Given the description of an element on the screen output the (x, y) to click on. 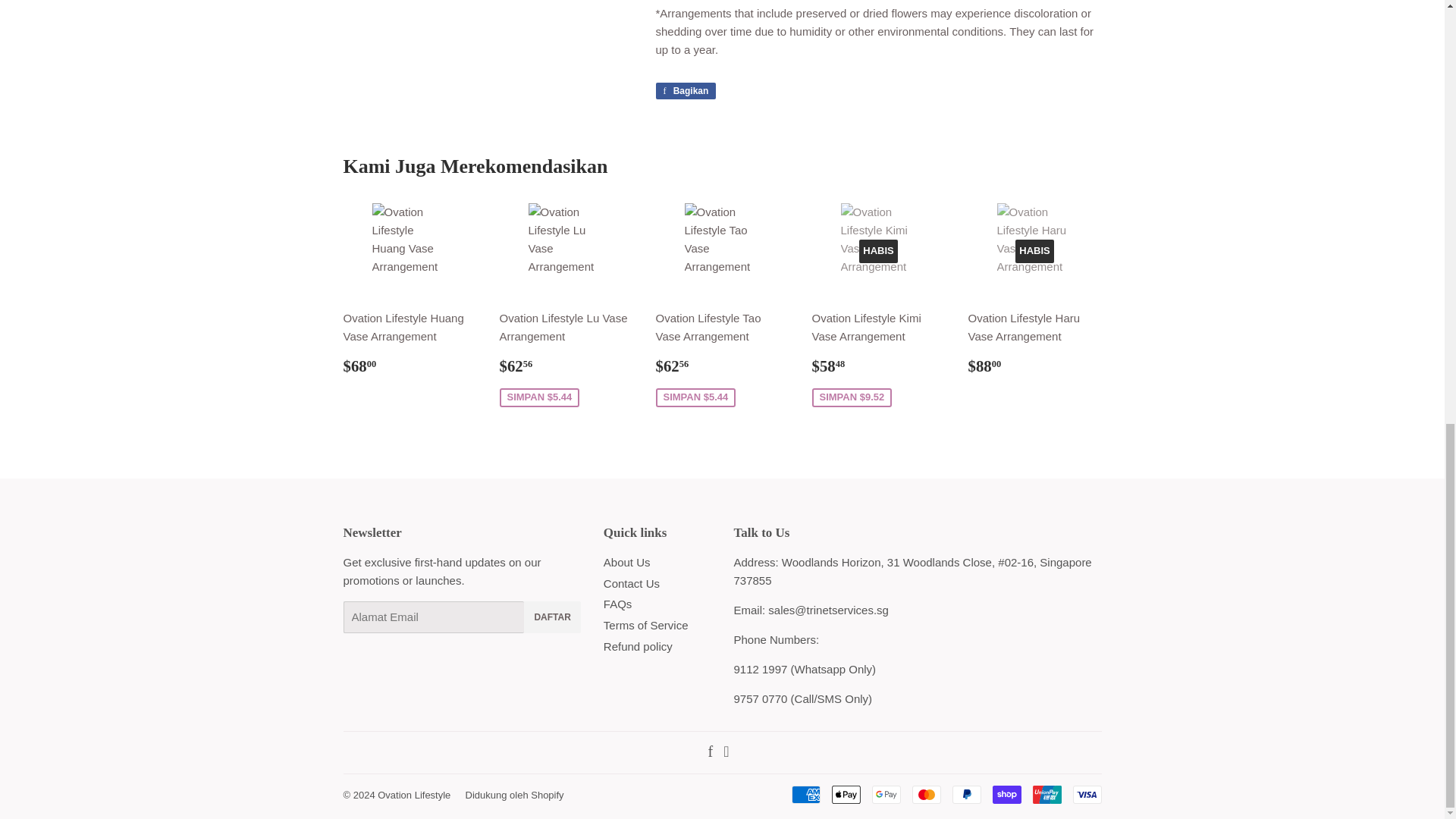
Shop Pay (1005, 794)
Visa (1085, 794)
Bagikan di Facebook (685, 90)
Apple Pay (845, 794)
Google Pay (886, 794)
American Express (806, 794)
Union Pay (1046, 794)
PayPal (966, 794)
Mastercard (925, 794)
